Given the description of an element on the screen output the (x, y) to click on. 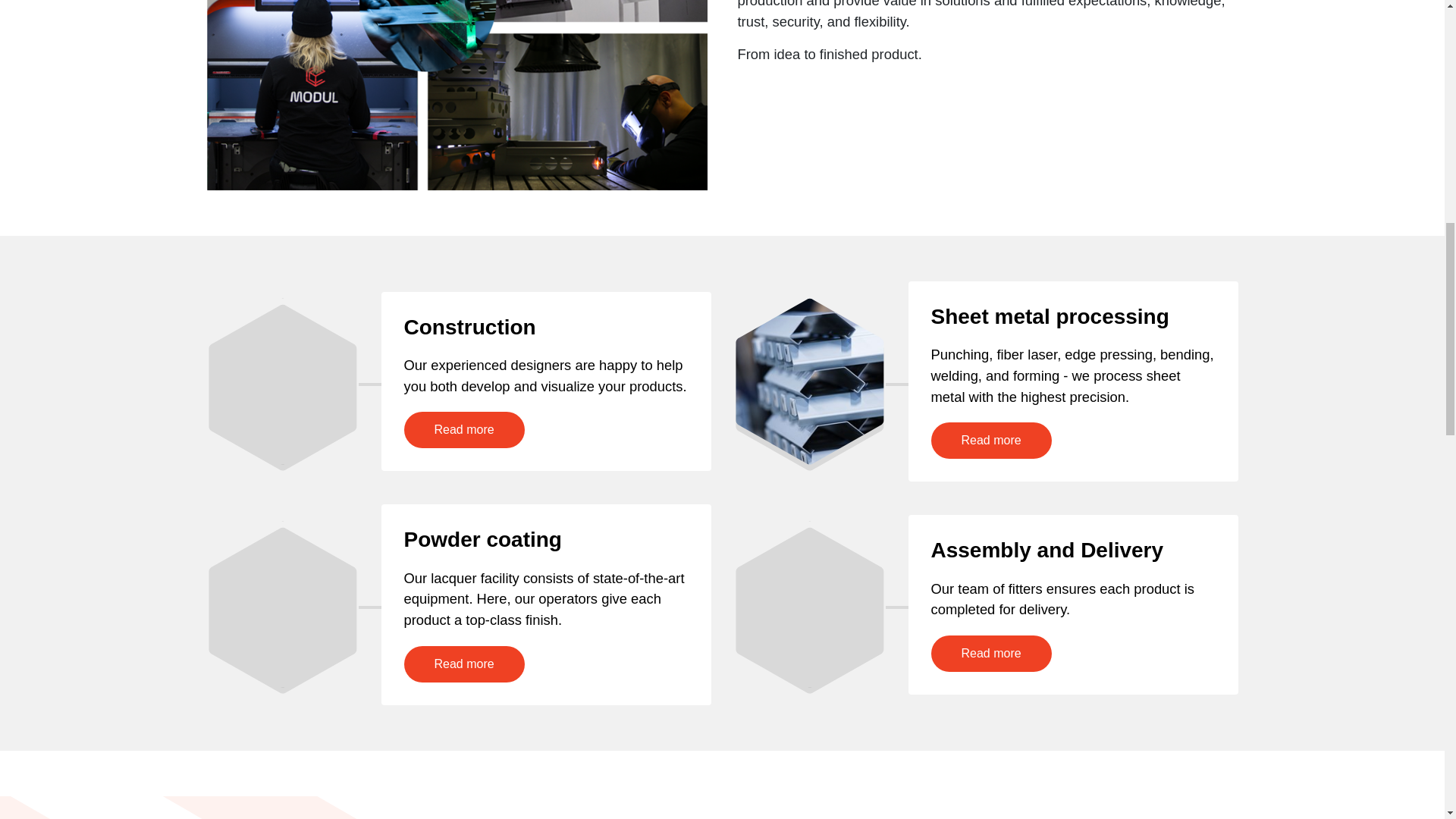
Read more (991, 653)
Read more (991, 440)
Read more (463, 664)
Read more (463, 429)
